Given the description of an element on the screen output the (x, y) to click on. 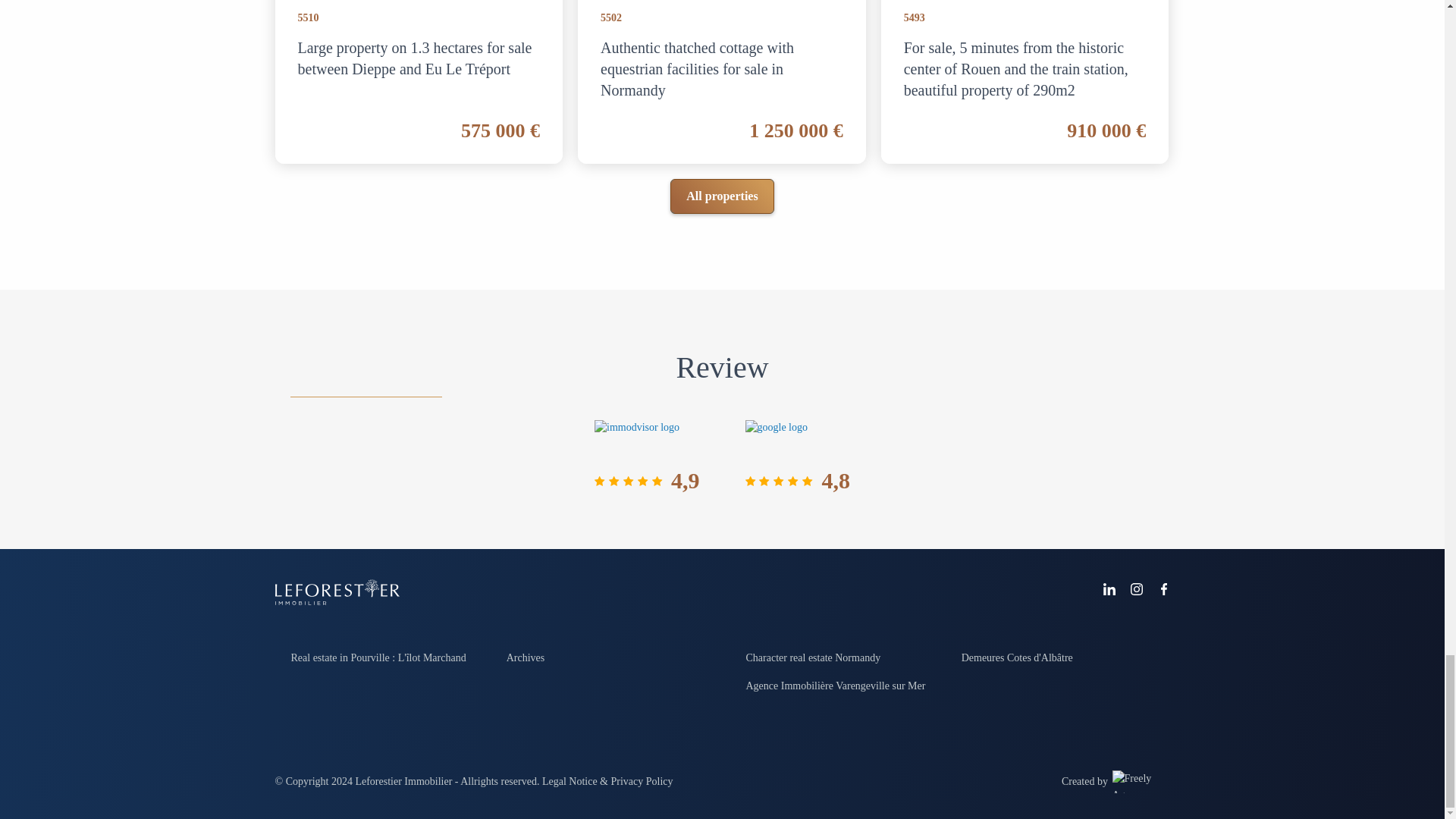
immodvisor review (636, 437)
Goggle review (776, 437)
Tout l'immobilier de la cote d'Albatre (1016, 657)
Freely Agency (1140, 784)
Vendre sa maison de Varengeville (835, 685)
